Given the description of an element on the screen output the (x, y) to click on. 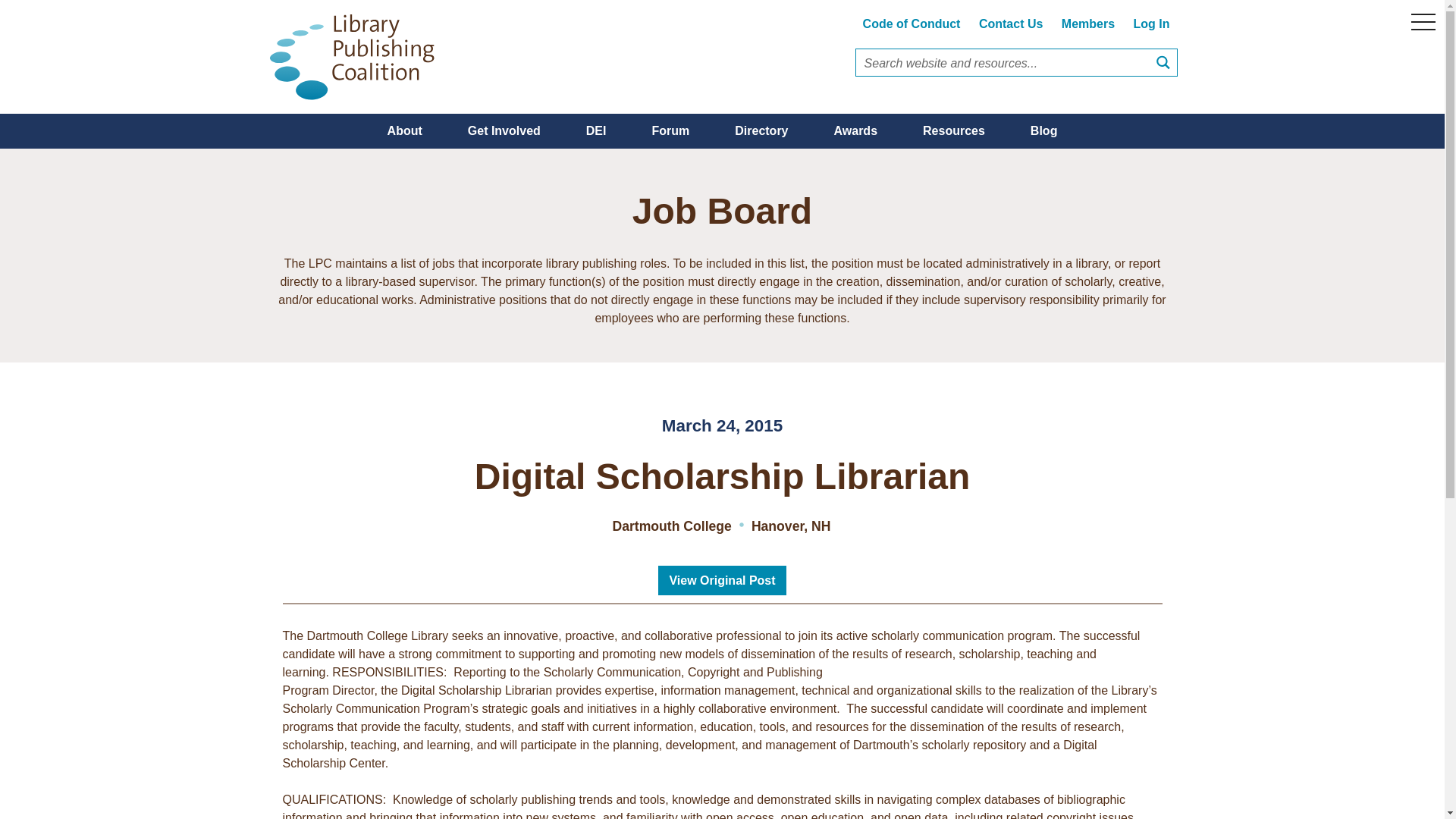
Members (1088, 23)
Resources (953, 130)
Library Publishing Coalition (357, 56)
Blog (1043, 130)
Contact Us (1010, 23)
About (405, 130)
Code of Conduct (912, 23)
Forum (669, 130)
Awards (855, 130)
Directory (760, 130)
Log In (1151, 23)
Get Involved (504, 130)
Home (357, 56)
